Given the description of an element on the screen output the (x, y) to click on. 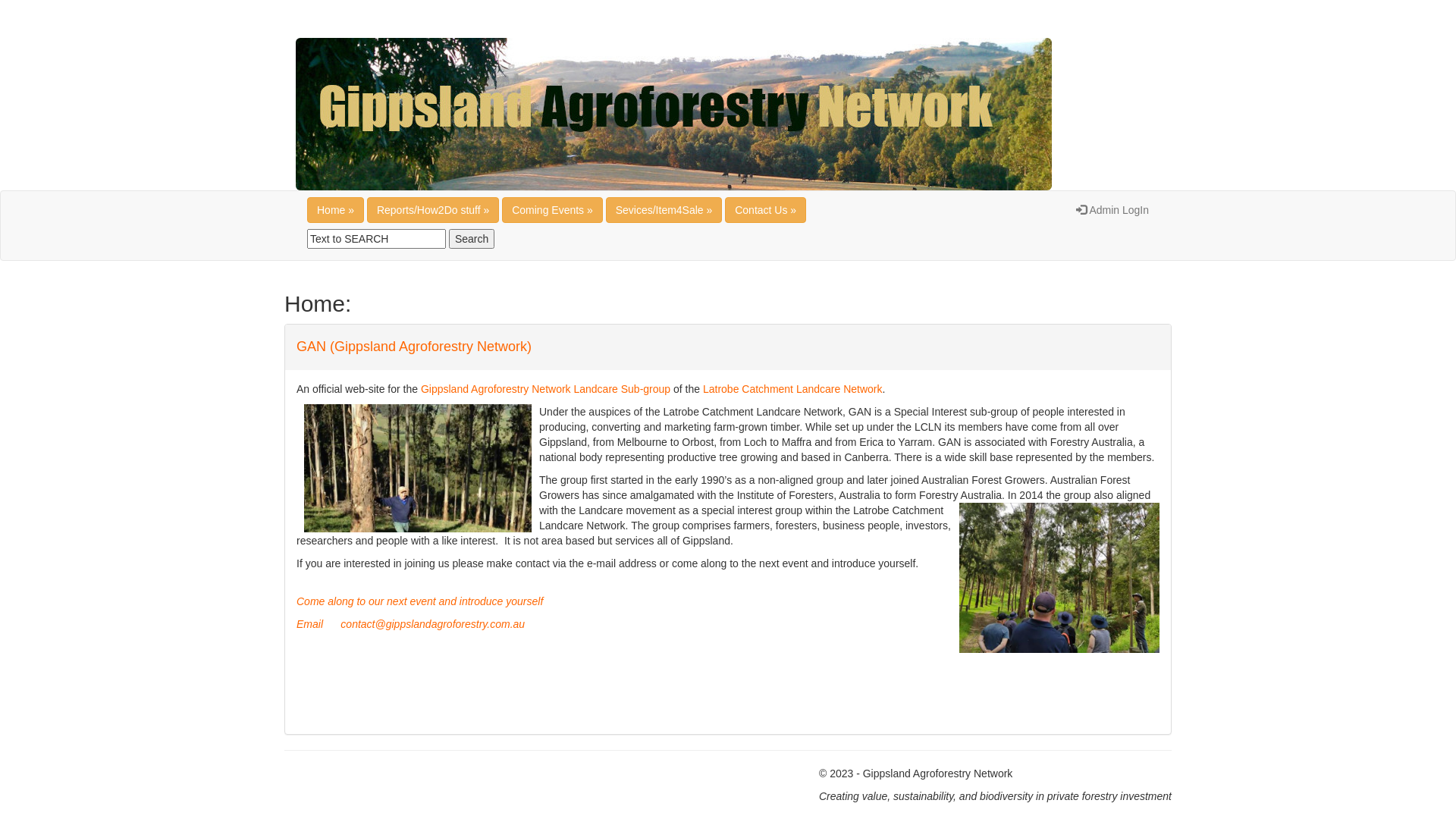
Enter keyword for search Element type: hover (376, 238)
Search Element type: text (471, 238)
Admin LogIn Element type: text (1112, 210)
